Given the description of an element on the screen output the (x, y) to click on. 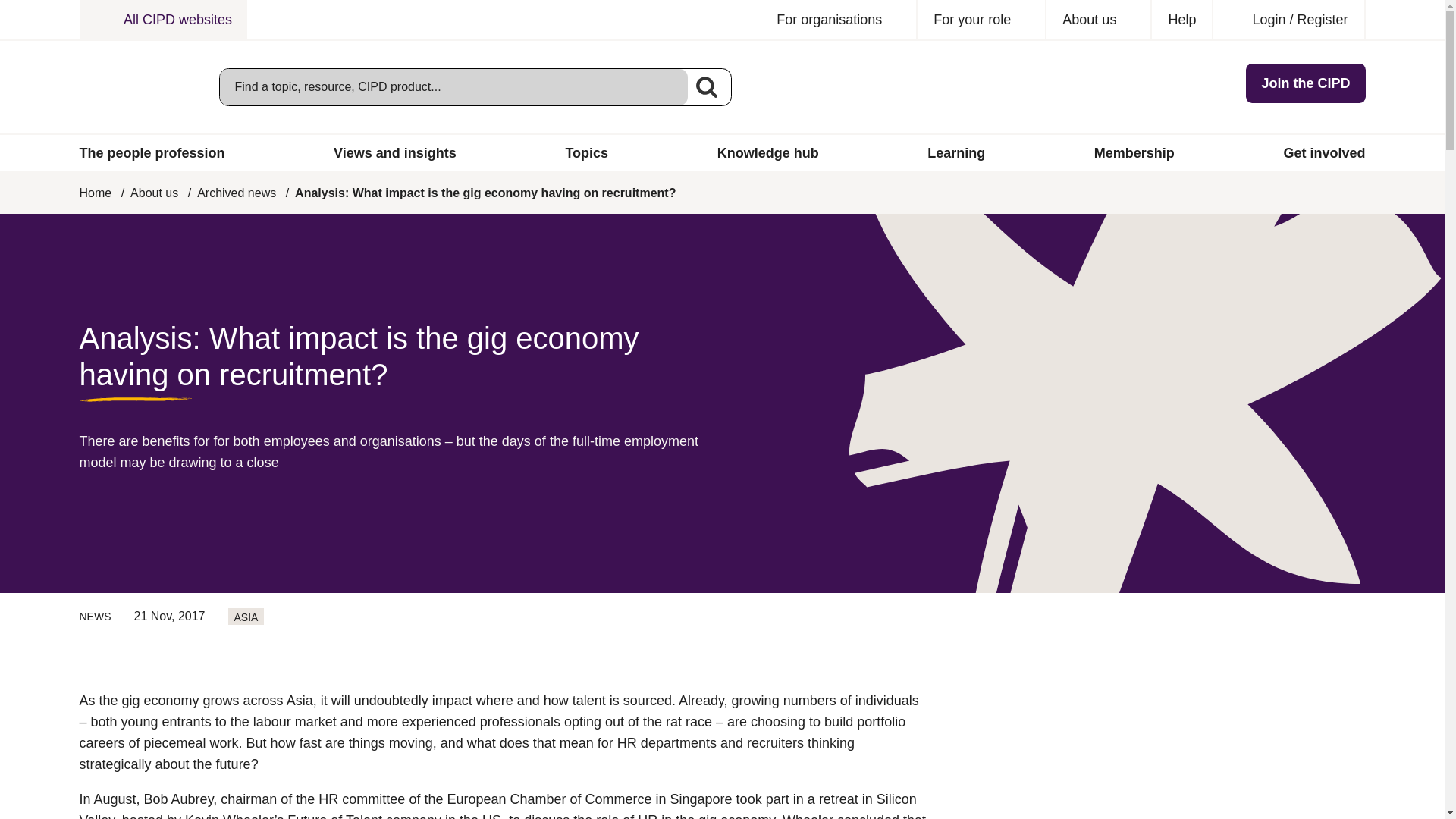
Search (706, 86)
Help (1181, 19)
For your role (981, 19)
Help (1181, 19)
All CIPD websites (162, 19)
Search (706, 86)
About us (1098, 19)
For organisations (838, 19)
Search (706, 86)
Join the CIPD (1305, 83)
